Given the description of an element on the screen output the (x, y) to click on. 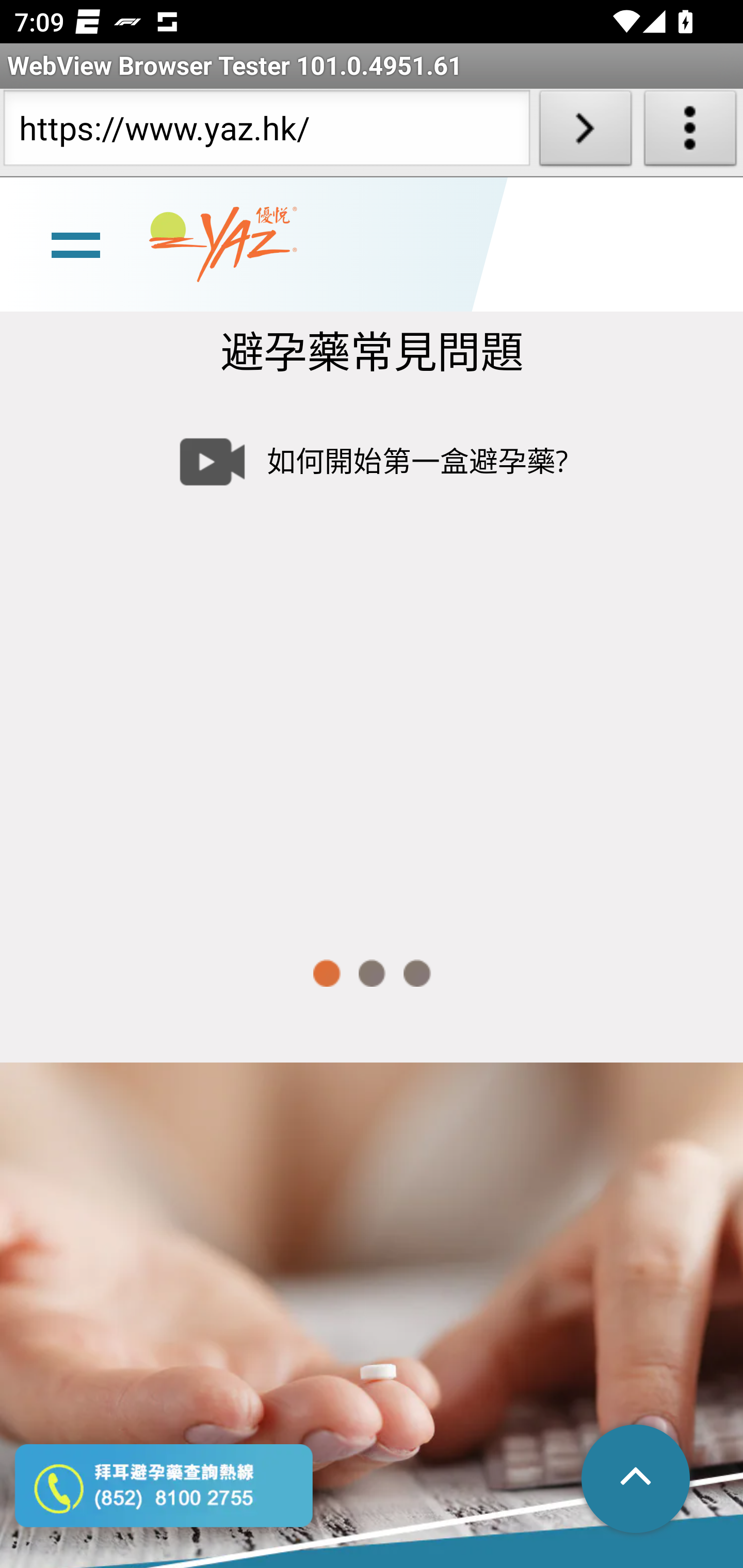
https://www.yaz.hk/ (266, 132)
Load URL (585, 132)
About WebView (690, 132)
www.yaz (222, 244)
line Toggle burger menu (75, 242)
slide 1 如何開始第一盒避孕藥? Video Player Video Player (371, 658)
slide 1 如何開始第一盒避孕藥? Video Player Video Player (371, 658)
1 of 3 (326, 973)
2 of 3 (371, 973)
3 of 3 (416, 973)
 (636, 1480)
